Given the description of an element on the screen output the (x, y) to click on. 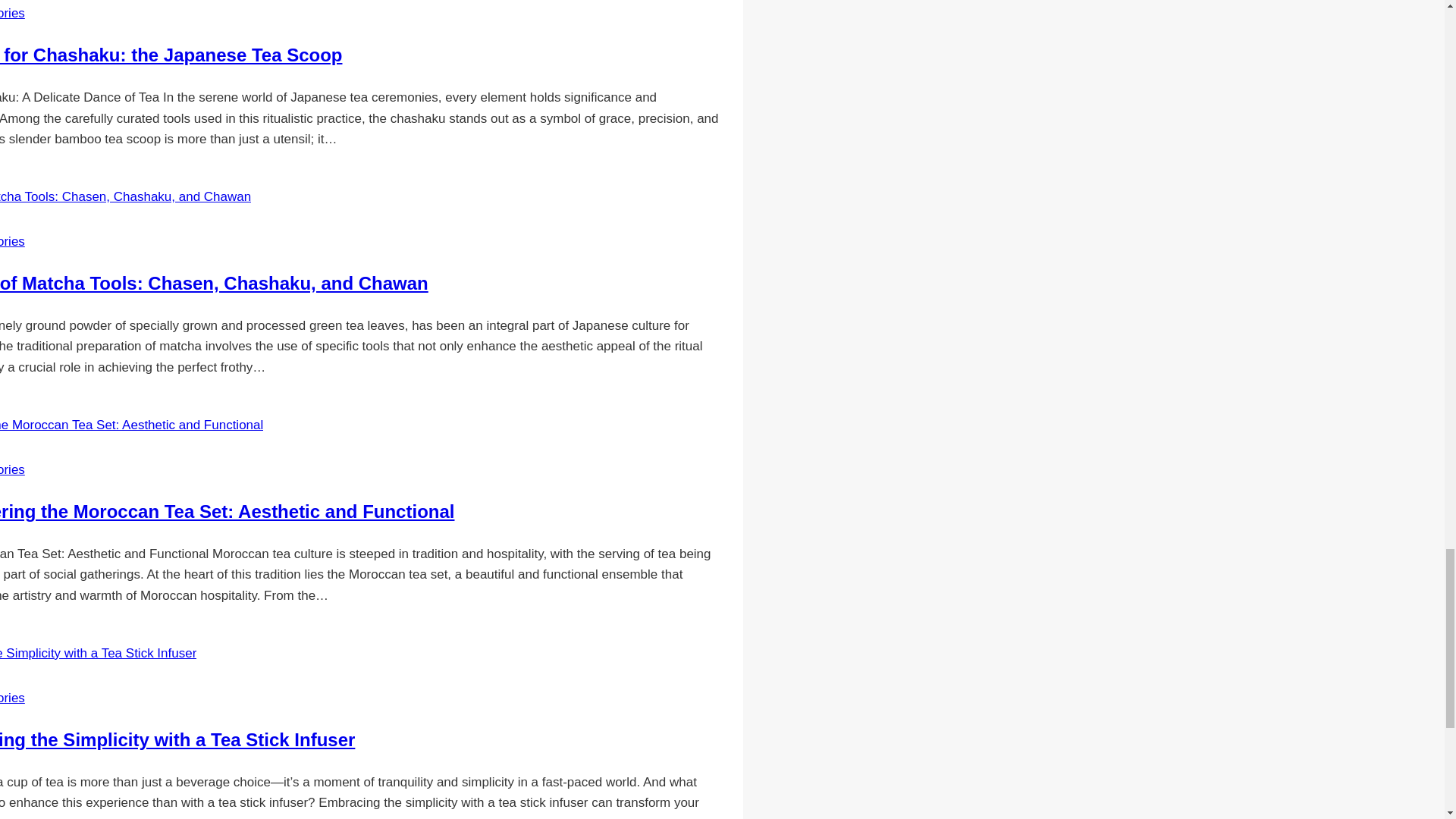
The Art of Matcha Tools: Chasen, Chashaku, and Chawan (214, 282)
Discovering the Moroccan Tea Set: Aesthetic and Functional (227, 511)
Tea Accessories (12, 698)
Tea Accessories (12, 12)
Tea Accessories (12, 241)
Embracing the Simplicity with a Tea Stick Infuser (177, 739)
Tea Accessories (12, 469)
A Haiku for Chashaku: the Japanese Tea Scoop (171, 55)
